Given the description of an element on the screen output the (x, y) to click on. 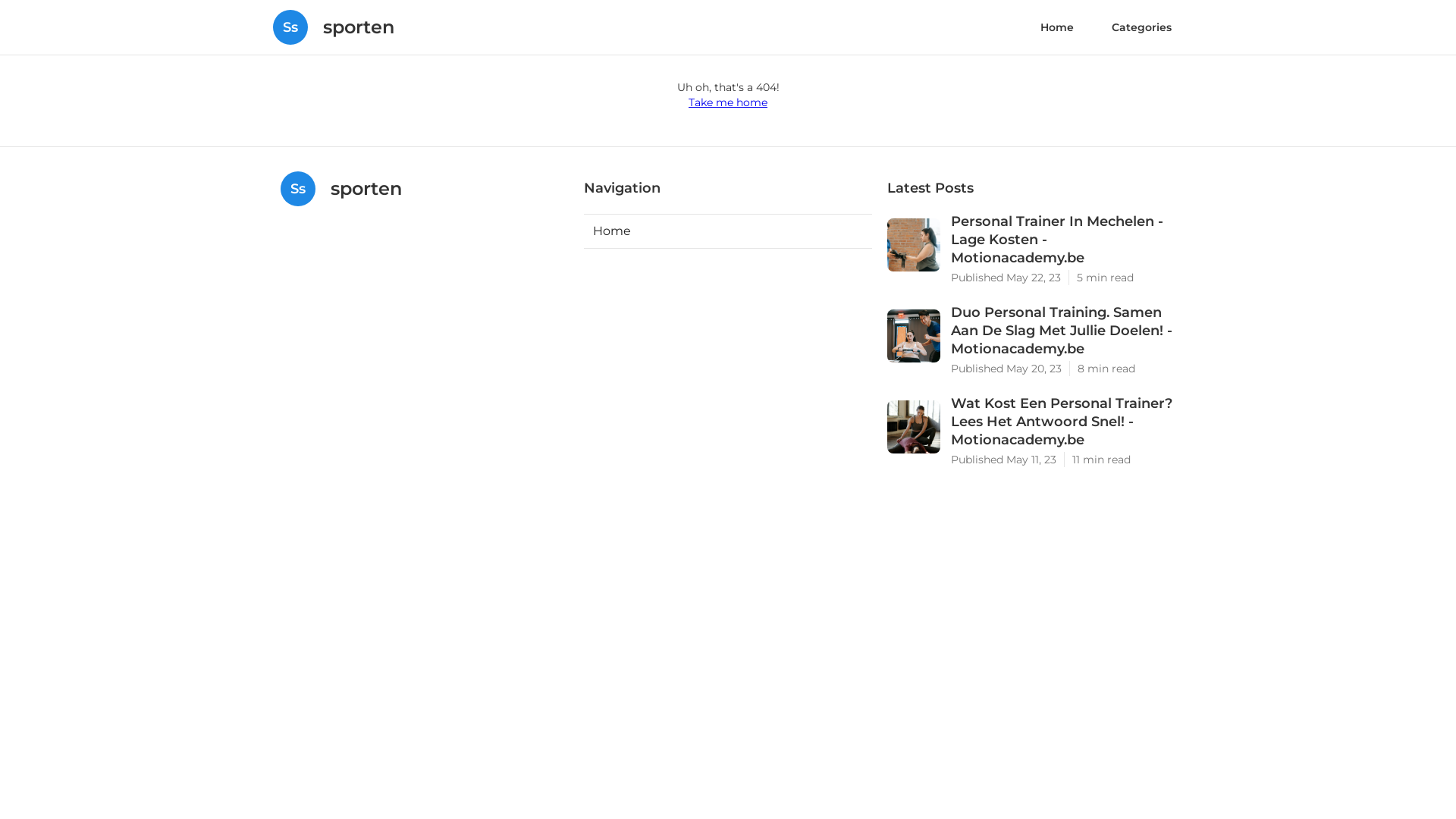
Home Element type: text (727, 230)
Home Element type: text (1057, 26)
Take me home Element type: text (727, 101)
Categories Element type: text (1141, 26)
